Given the description of an element on the screen output the (x, y) to click on. 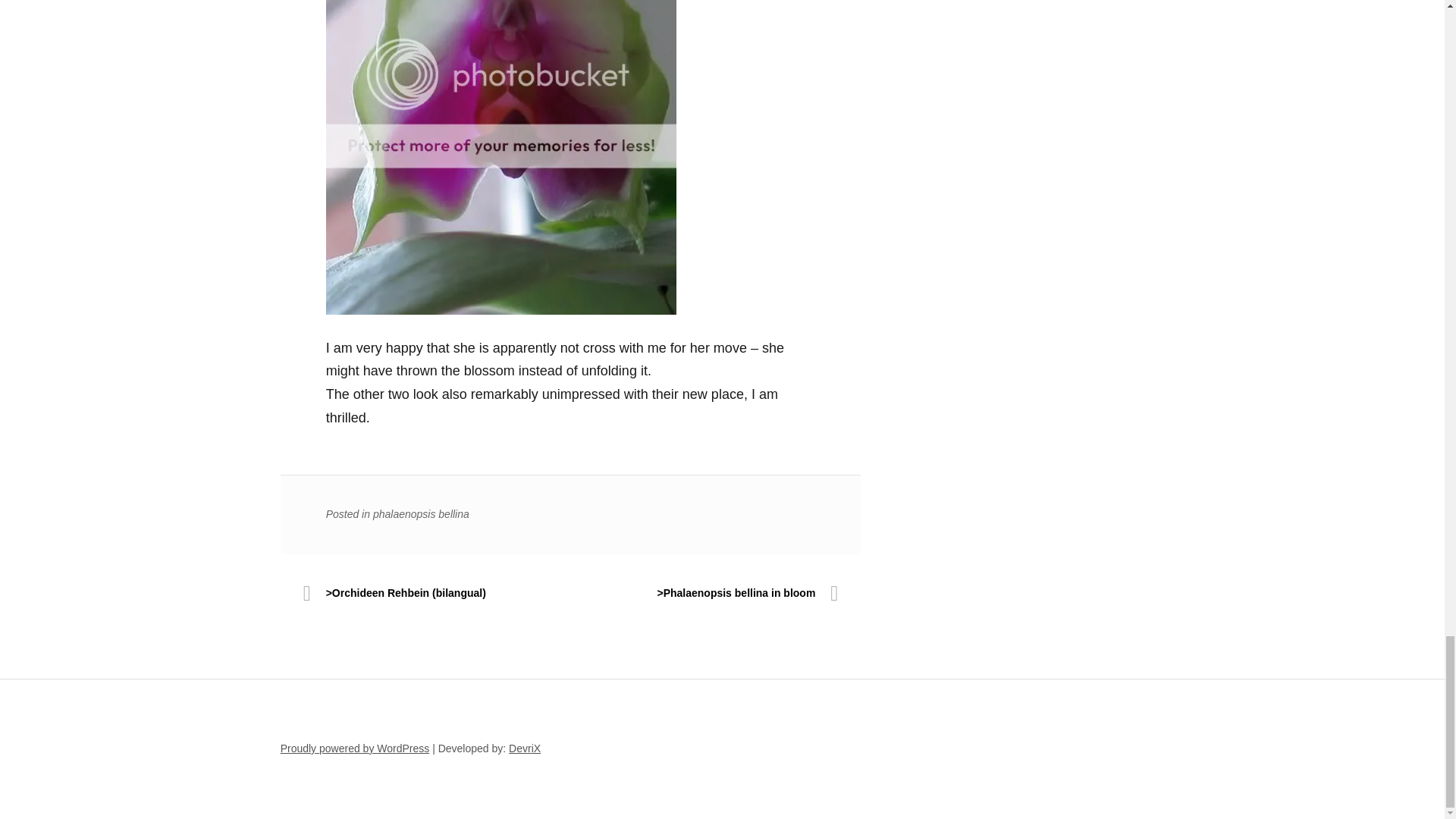
Proudly powered by WordPress (355, 748)
phalaenopsis bellina (420, 513)
DevriX (524, 748)
